Given the description of an element on the screen output the (x, y) to click on. 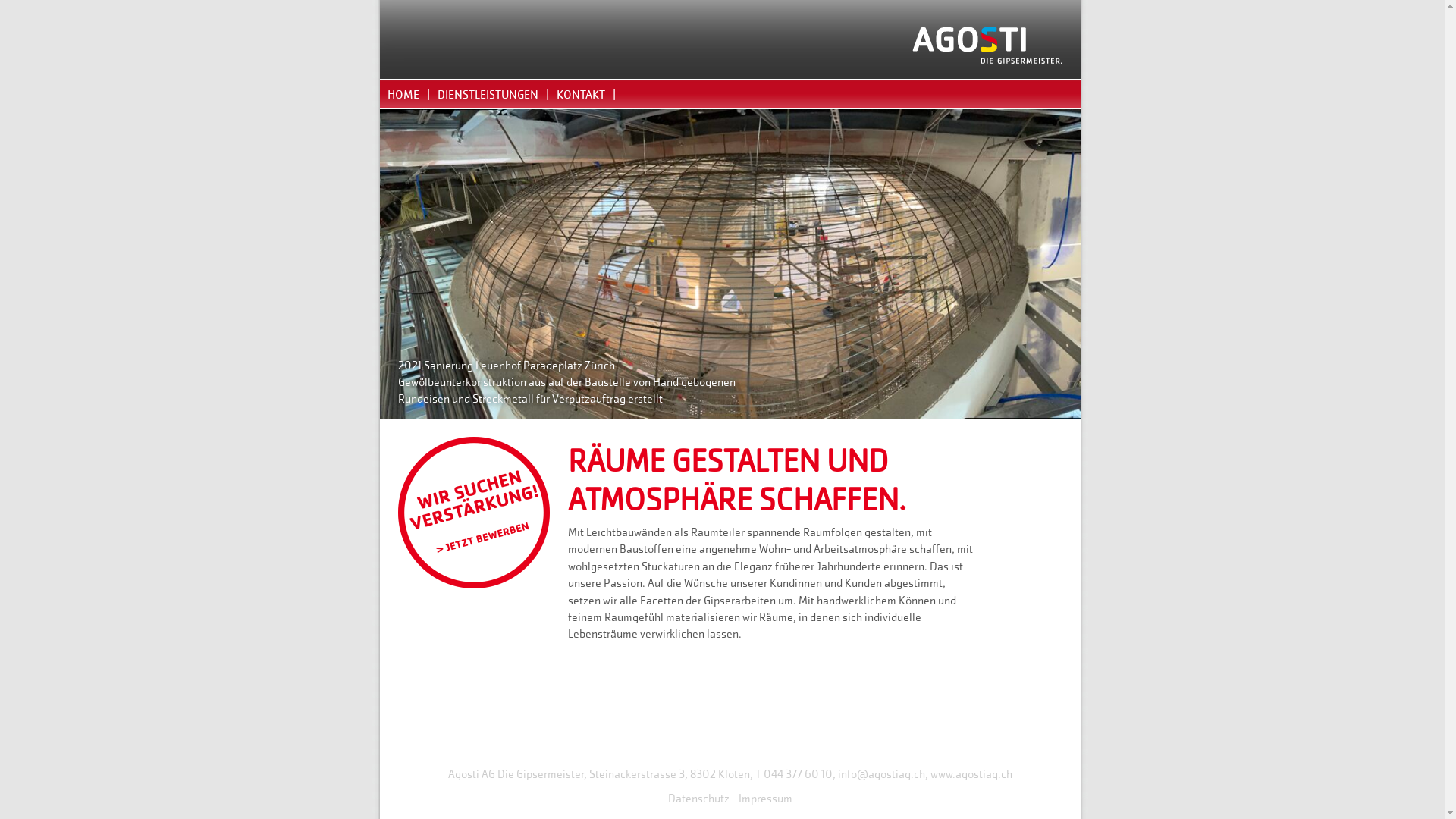
KONTAKT Element type: text (582, 93)
info@agostiag.ch Element type: text (880, 773)
Datenschutz Element type: text (697, 797)
DIENSTLEISTUNGEN Element type: text (488, 93)
HOME Element type: text (404, 93)
Impressum Element type: text (765, 797)
www.agostiag.ch Element type: text (970, 773)
